Given the description of an element on the screen output the (x, y) to click on. 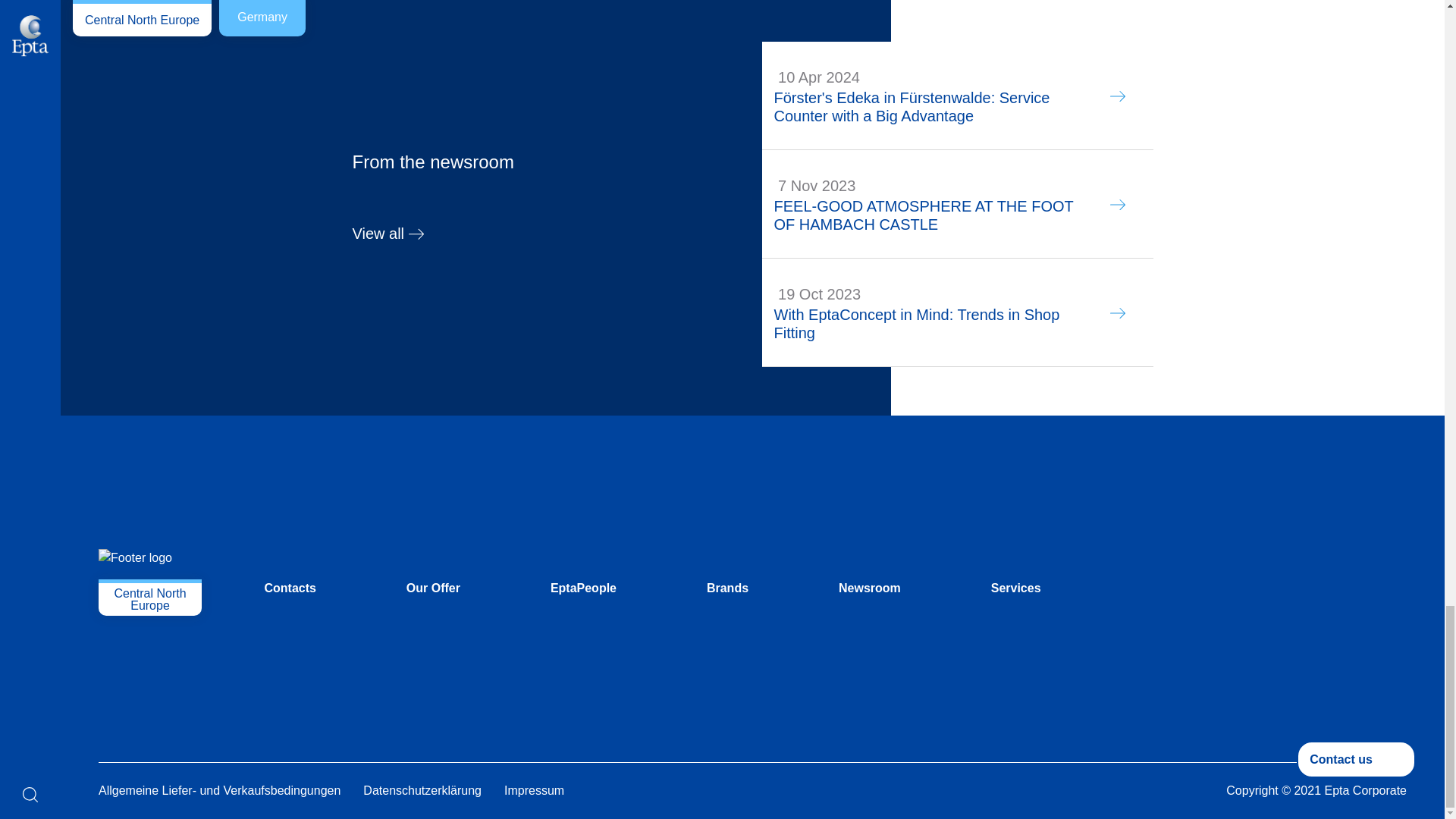
View all (432, 232)
Contacts (289, 588)
